Given the description of an element on the screen output the (x, y) to click on. 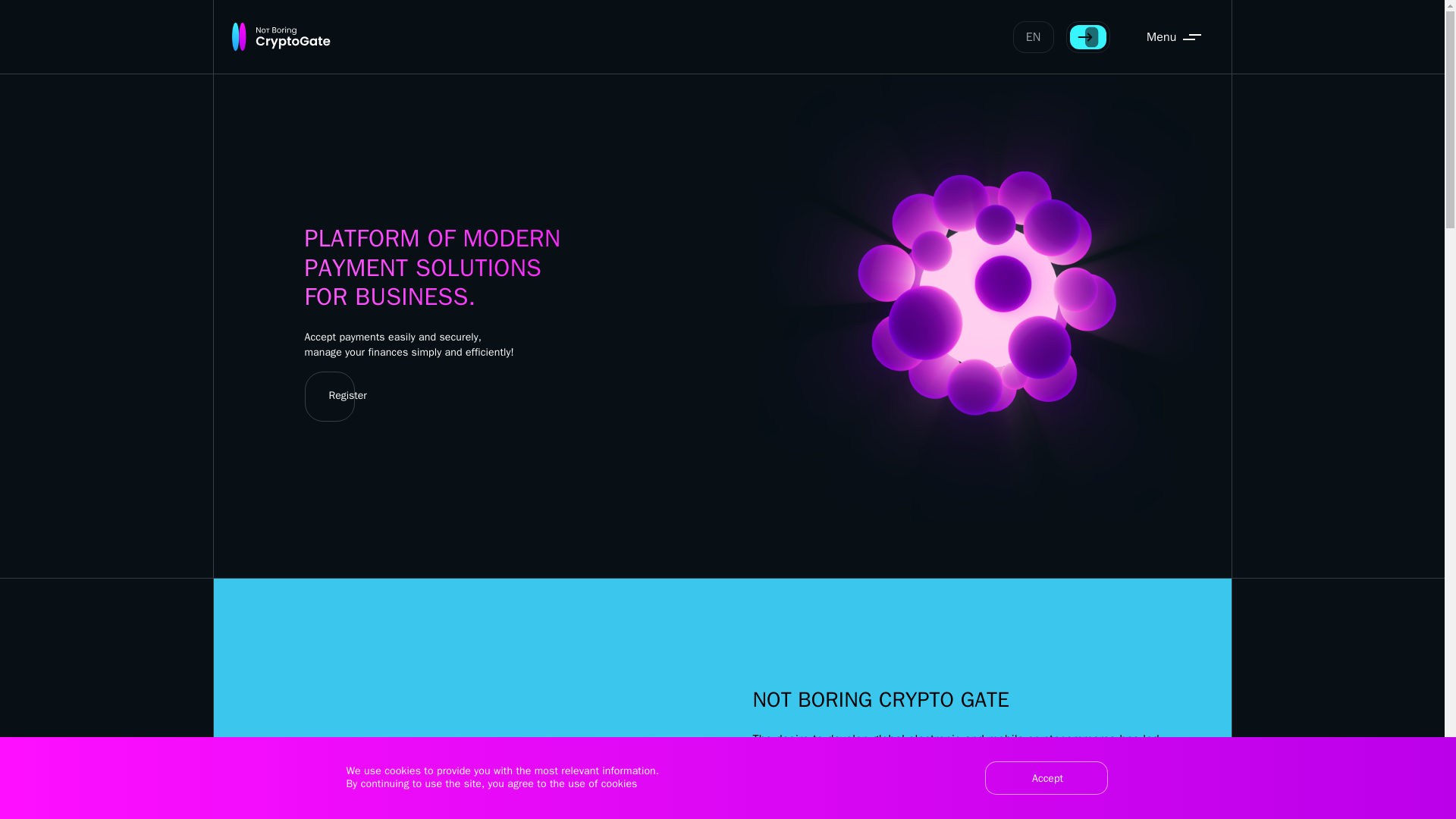
Register (342, 396)
EN (1033, 37)
